Given the description of an element on the screen output the (x, y) to click on. 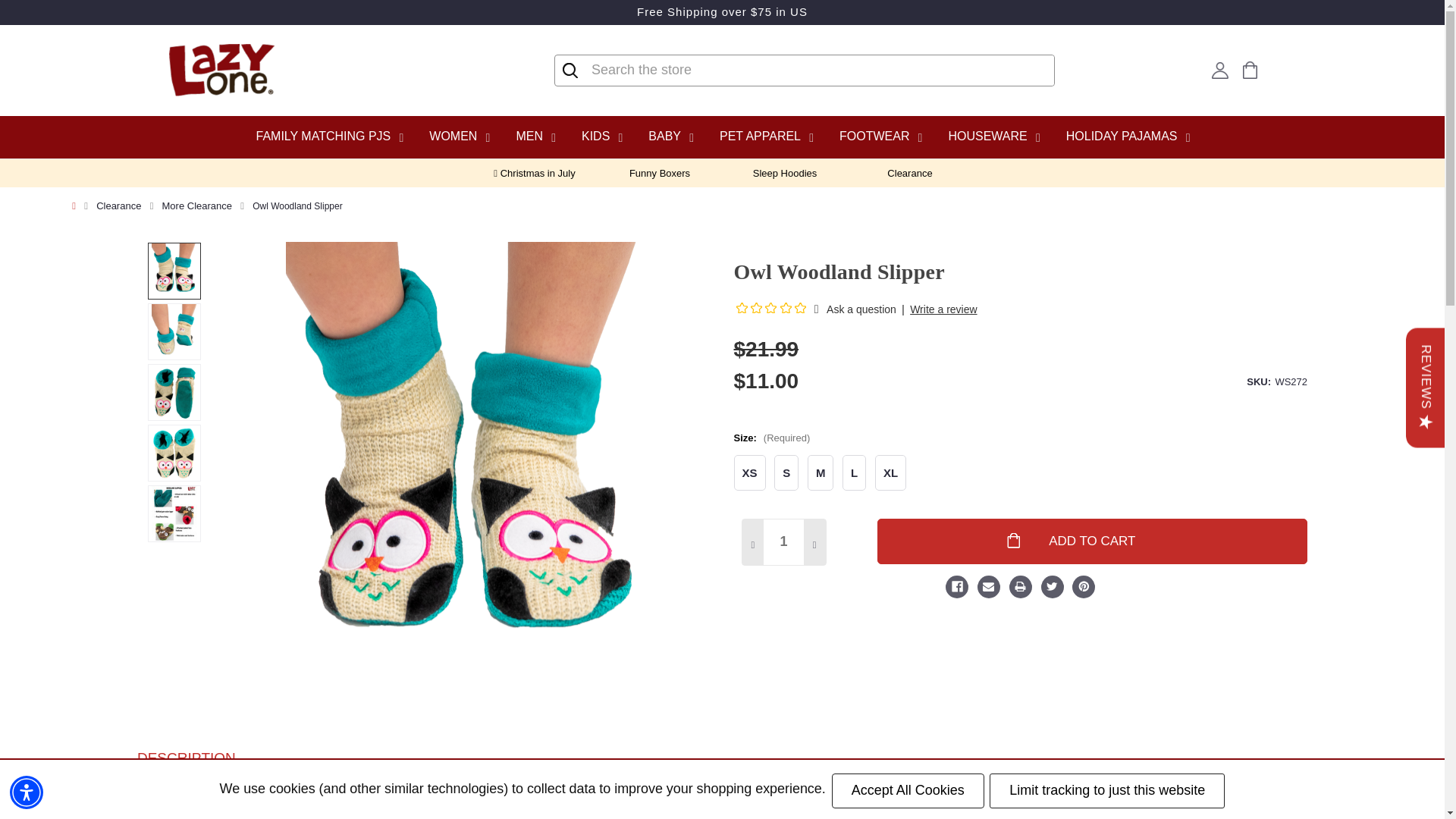
 Owl Woodland Slipper  (174, 331)
 Owl Woodland Slipper  (174, 392)
Facebook (956, 588)
Print (1019, 588)
PayPal Message 1 (940, 416)
Lazy One (221, 70)
 Owl Woodland Slipper  (174, 270)
Accessibility Menu (26, 792)
KIDS (601, 135)
 Owl Woodland Slipper  (174, 452)
 Owl Woodland Slipper  (174, 513)
